Given the description of an element on the screen output the (x, y) to click on. 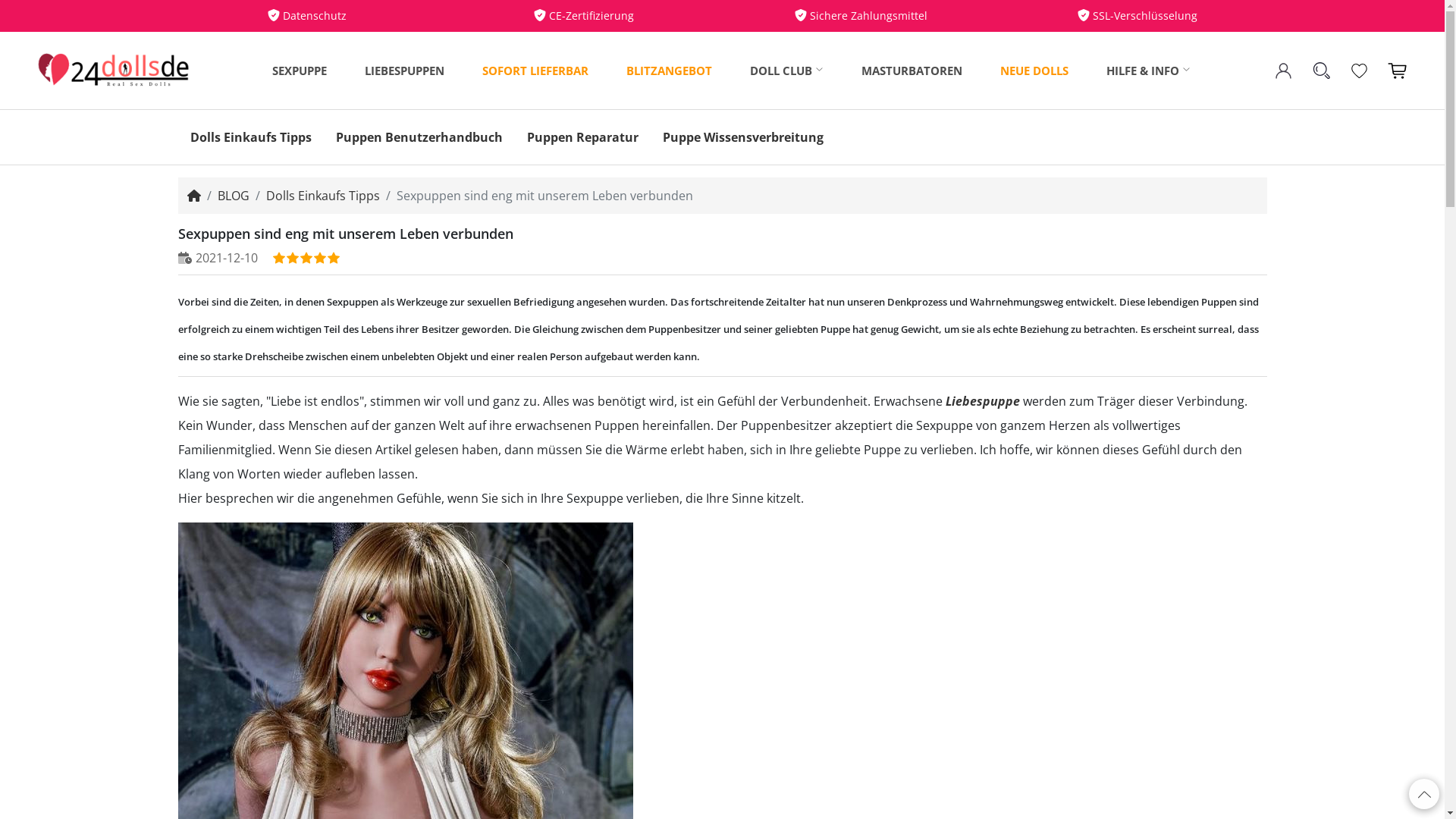
Liebespuppe Element type: text (981, 400)
BLOG Element type: text (232, 195)
SOFORT LIEFERBAR Element type: text (535, 70)
BLITZANGEBOT Element type: text (669, 70)
Dolls Einkaufs Tipps Element type: text (250, 137)
SEXPUPPE Element type: text (299, 70)
NEUE DOLLS Element type: text (1034, 70)
Dolls Einkaufs Tipps Element type: text (322, 195)
MASTURBATOREN Element type: text (911, 70)
Puppen Benutzerhandbuch Element type: text (418, 137)
LIEBESPUPPEN Element type: text (404, 70)
Puppe Wissensverbreitung Element type: text (742, 137)
Puppen Reparatur Element type: text (581, 137)
